Given the description of an element on the screen output the (x, y) to click on. 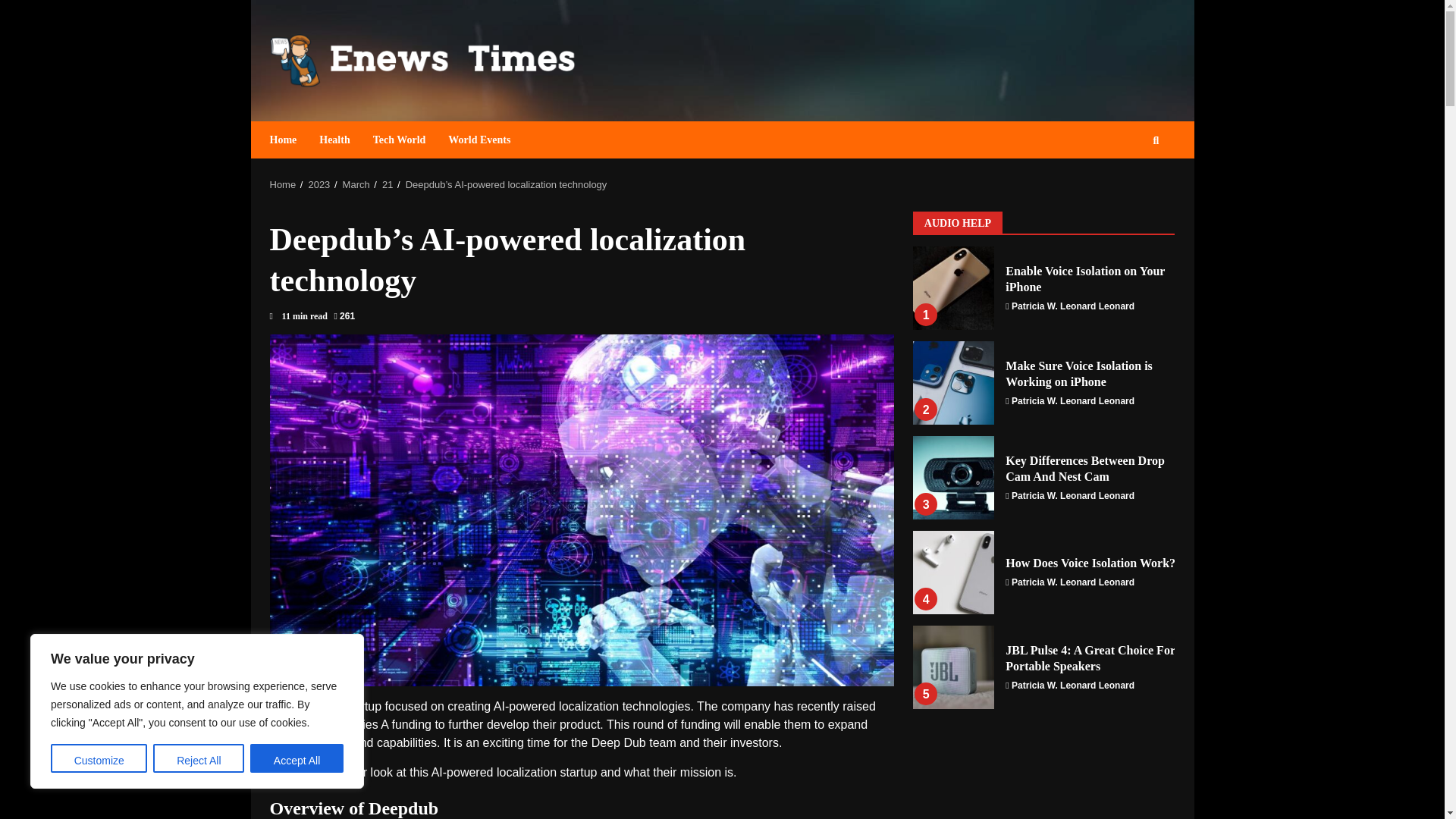
261 (344, 316)
21 (387, 184)
Search (1128, 185)
March (355, 184)
World Events (473, 139)
Tech World (399, 139)
Health (334, 139)
Home (288, 139)
2023 (318, 184)
Home (283, 184)
